Given the description of an element on the screen output the (x, y) to click on. 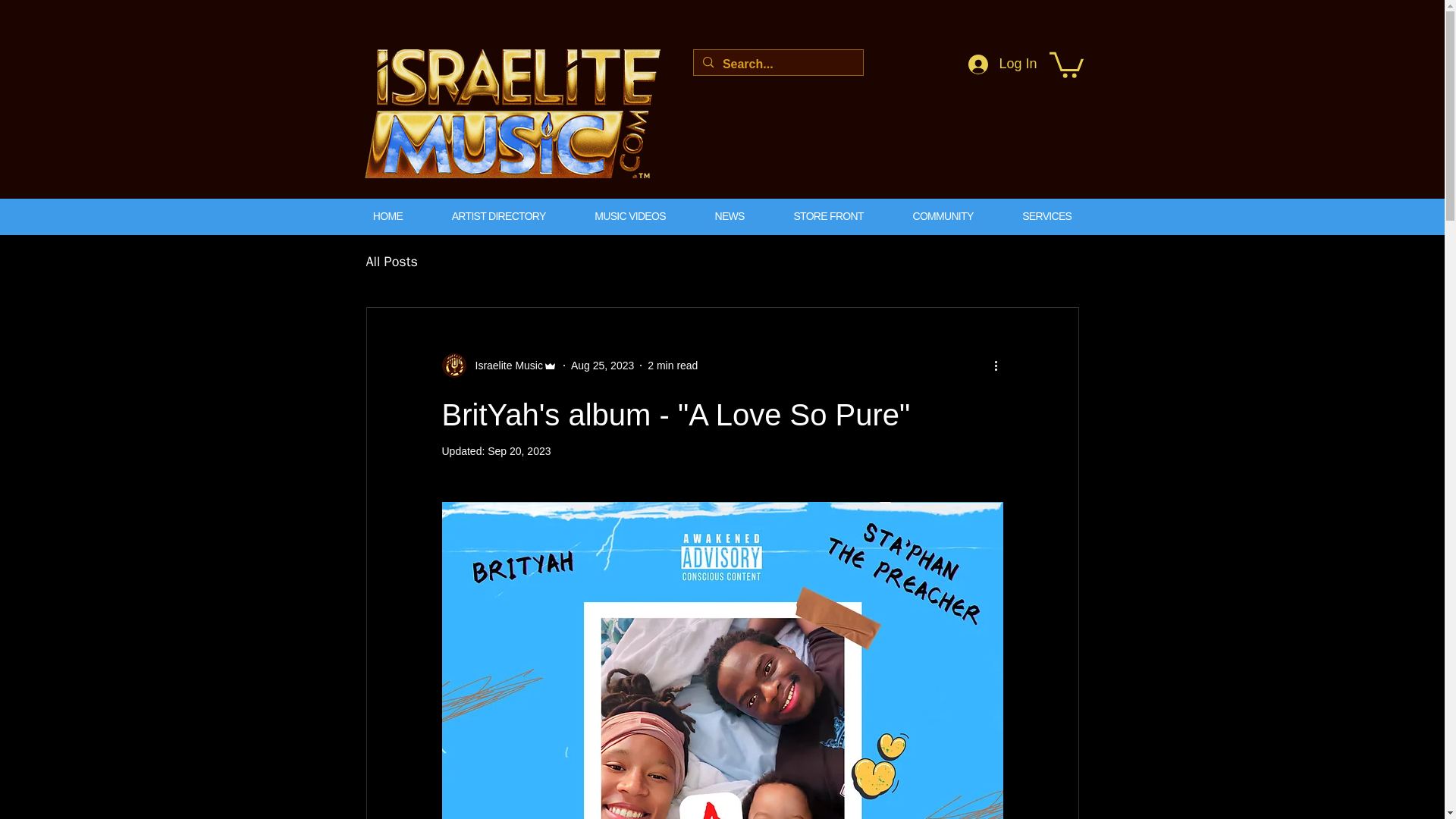
All Posts (390, 261)
Israelite Music (503, 365)
SERVICES (1047, 216)
Aug 25, 2023 (601, 365)
Israelite Music (498, 364)
2 min read (672, 365)
Sep 20, 2023 (518, 451)
Log In (1002, 64)
HOME (388, 216)
MUSIC VIDEOS (630, 216)
